Given the description of an element on the screen output the (x, y) to click on. 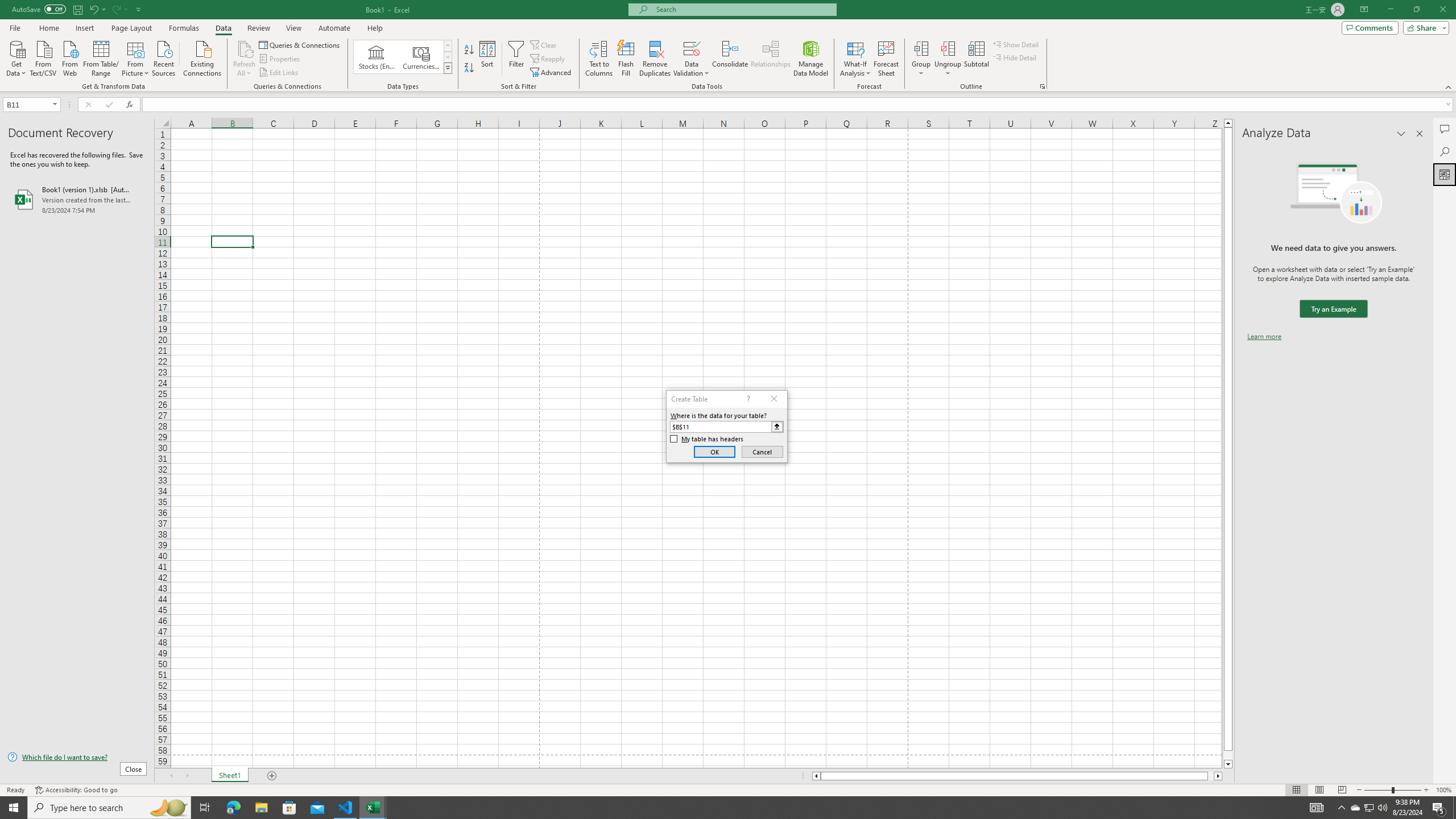
Search (1444, 151)
Manage Data Model (810, 58)
Advanced... (551, 72)
Edit Links (279, 72)
